Given the description of an element on the screen output the (x, y) to click on. 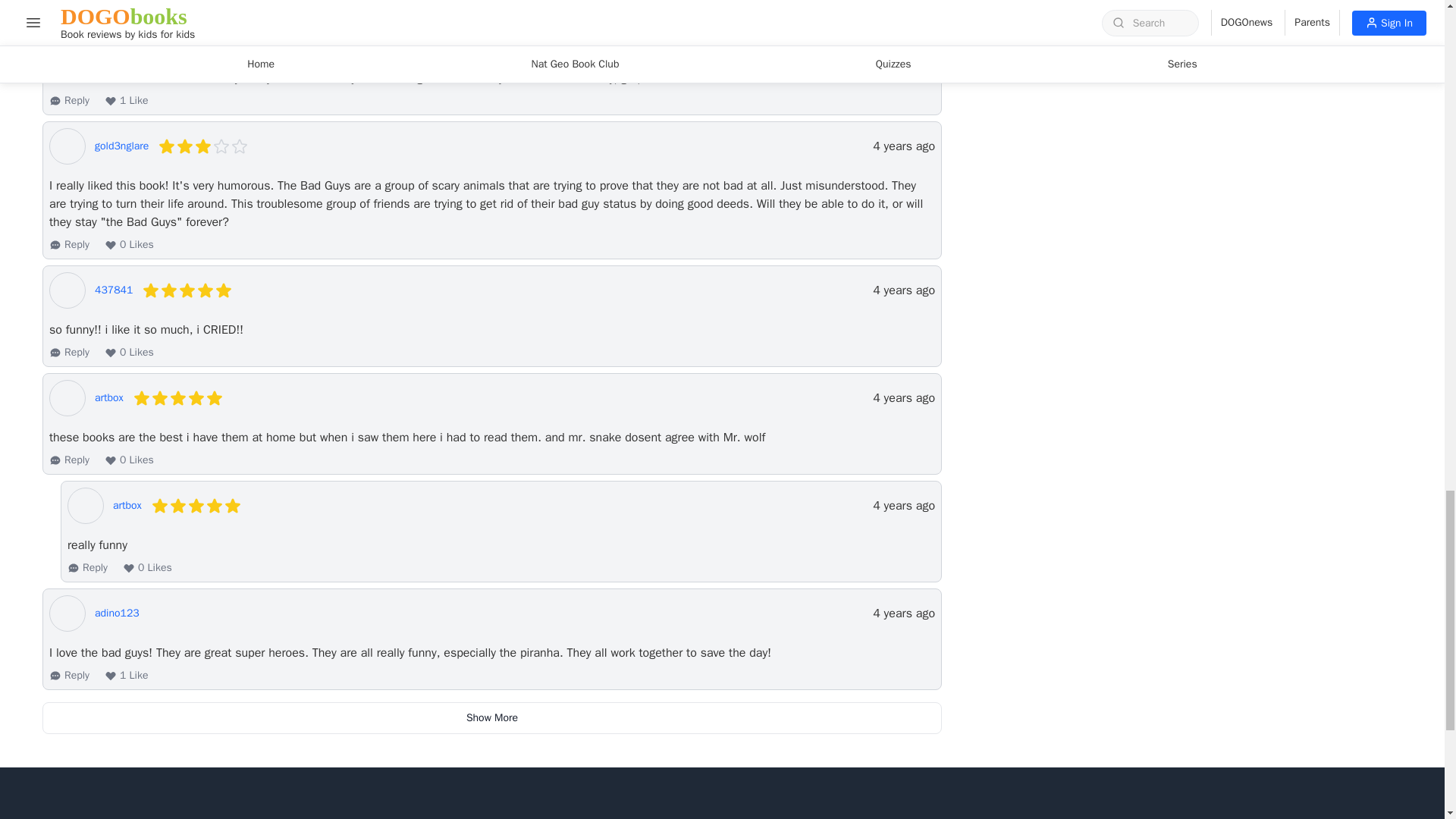
November 14, 2020 (903, 398)
roccowashere (126, 38)
gold3nglare (121, 145)
January 6, 2021 (903, 290)
1 Like (126, 100)
1 Like (126, 0)
August 24, 2021 (903, 38)
January 14, 2021 (903, 146)
Reply (68, 100)
